Given the description of an element on the screen output the (x, y) to click on. 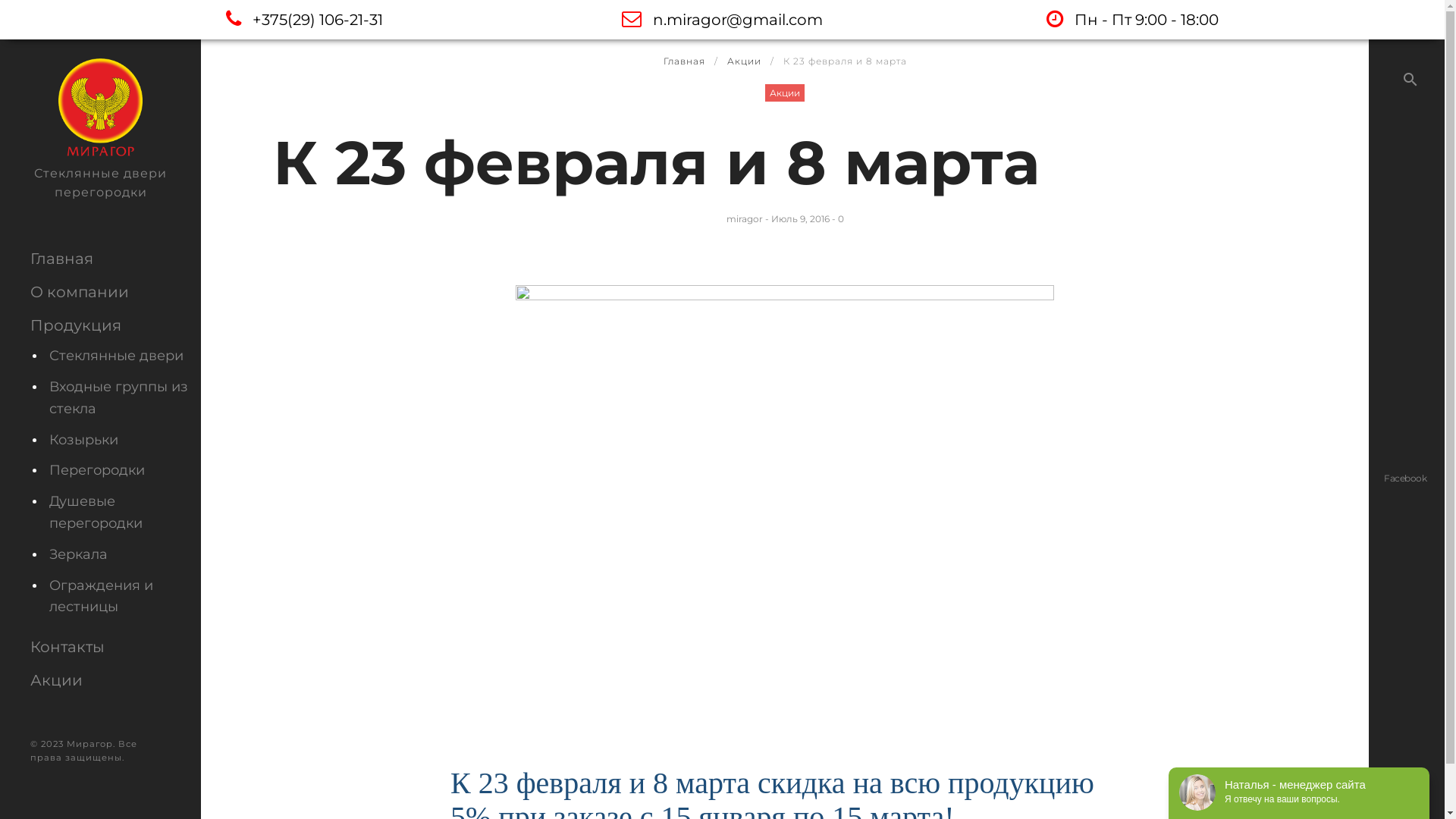
search Element type: text (1410, 79)
Facebook Element type: text (1404, 477)
0 Element type: text (840, 218)
miragor Element type: text (744, 218)
+375(29) 106-21-31 Element type: text (303, 19)
n.miragor@gmail.com Element type: text (721, 19)
Skip to content Element type: text (0, 0)
